Given the description of an element on the screen output the (x, y) to click on. 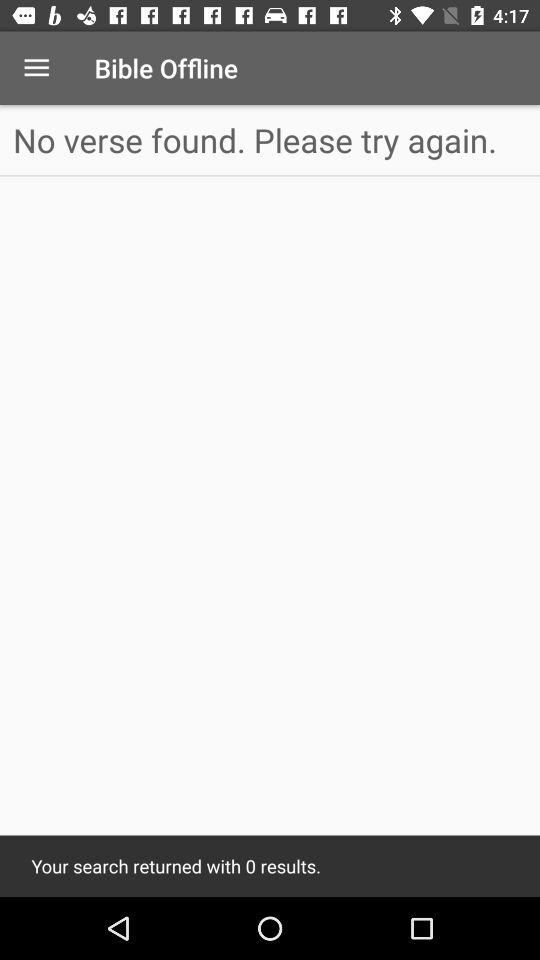
turn off icon next to bible offline icon (36, 68)
